Given the description of an element on the screen output the (x, y) to click on. 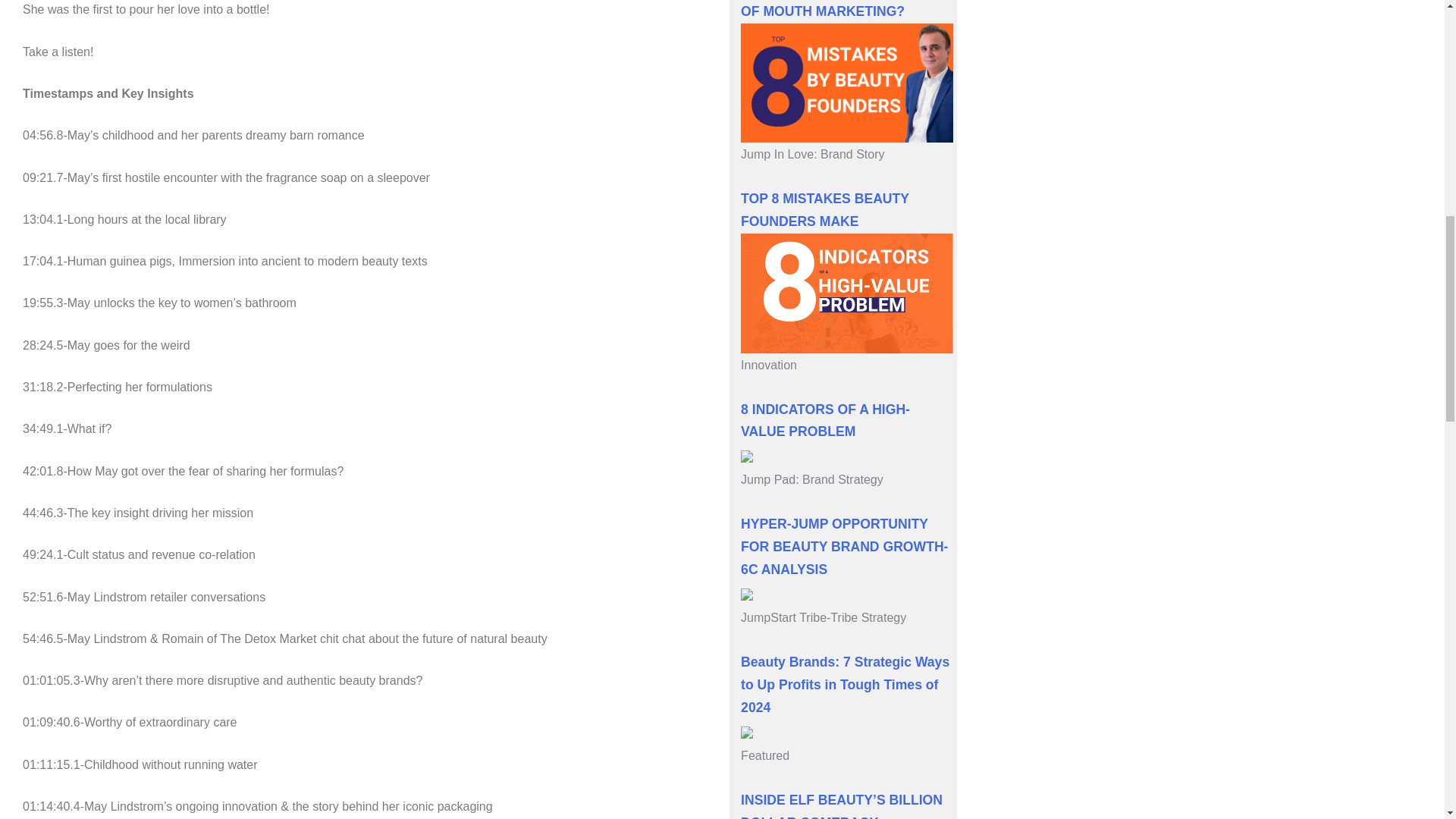
VIRAL MARKETING OR WORD OF MOUTH MARKETING? (837, 9)
